Given the description of an element on the screen output the (x, y) to click on. 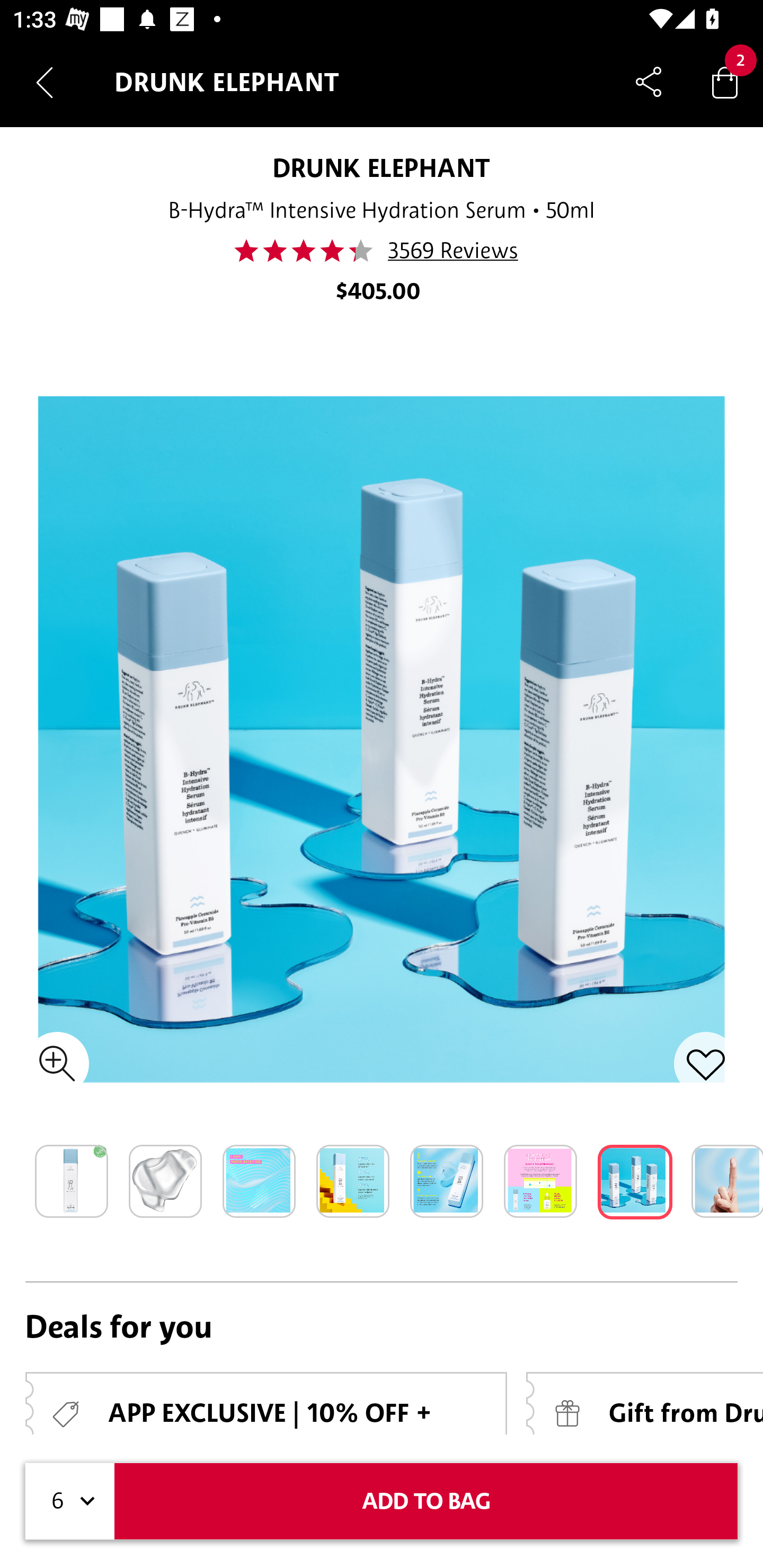
Navigate up (44, 82)
Share (648, 81)
Bag (724, 81)
DRUNK ELEPHANT (381, 167)
43.0 3569 Reviews (381, 250)
6 (69, 1500)
ADD TO BAG (425, 1500)
